Given the description of an element on the screen output the (x, y) to click on. 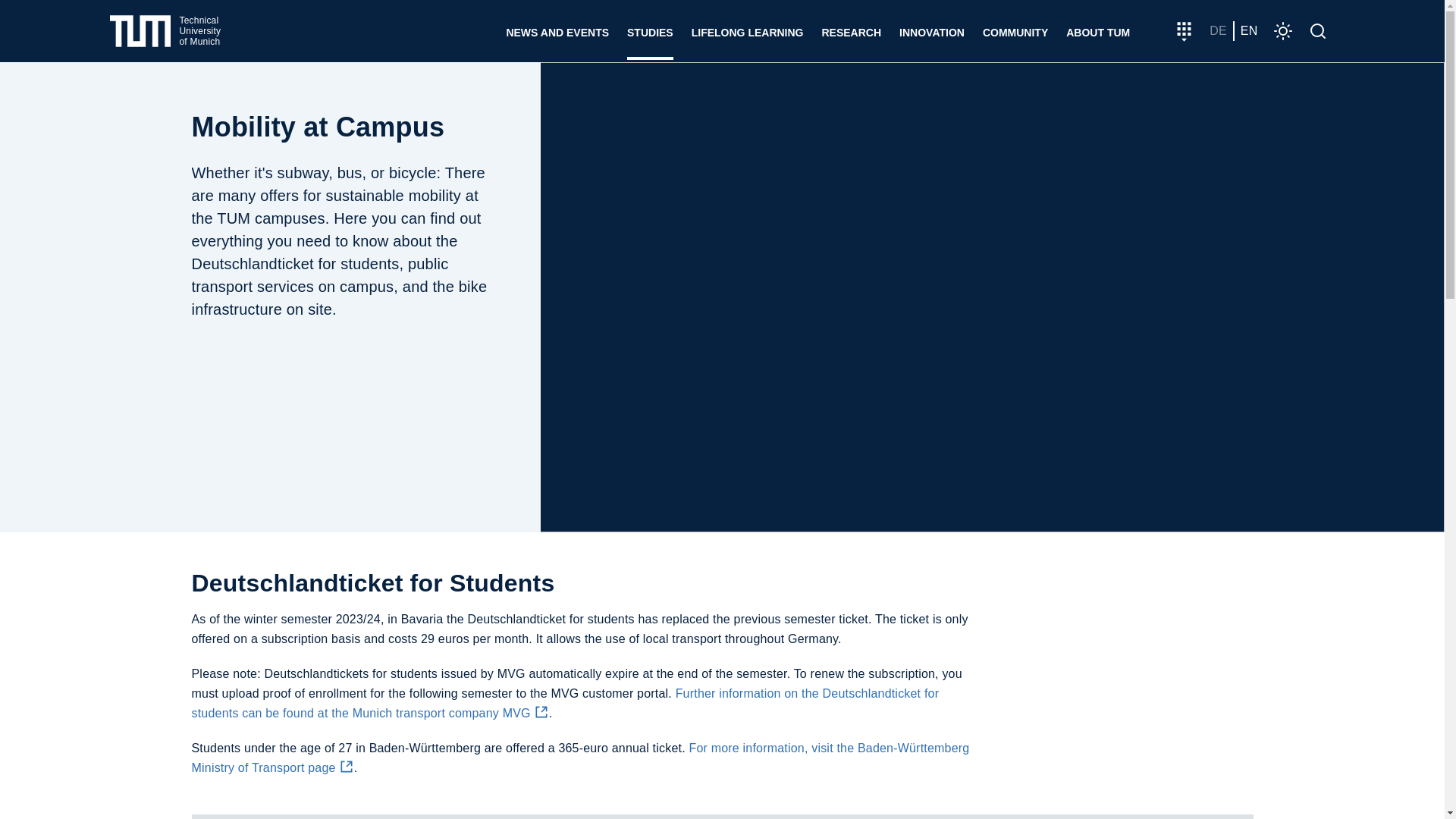
Technical University of Munich - Home (165, 31)
NEWS AND EVENTS (165, 31)
SKIP TO MAIN CONTENT (556, 30)
